Given the description of an element on the screen output the (x, y) to click on. 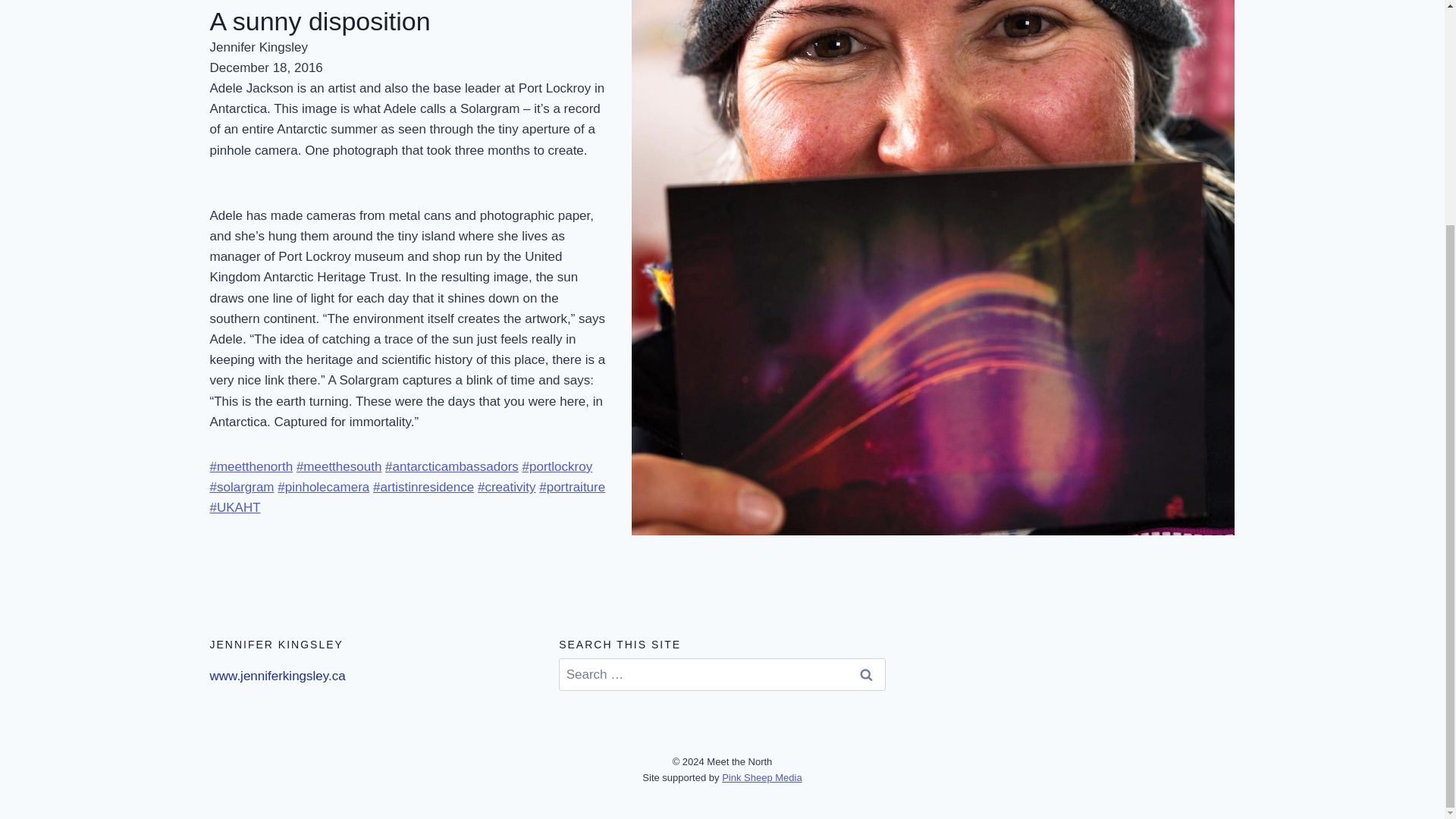
Pink Sheep Media (762, 777)
Search (866, 674)
www.jenniferkingsley.ca (277, 676)
Search (866, 674)
Search (866, 674)
